Given the description of an element on the screen output the (x, y) to click on. 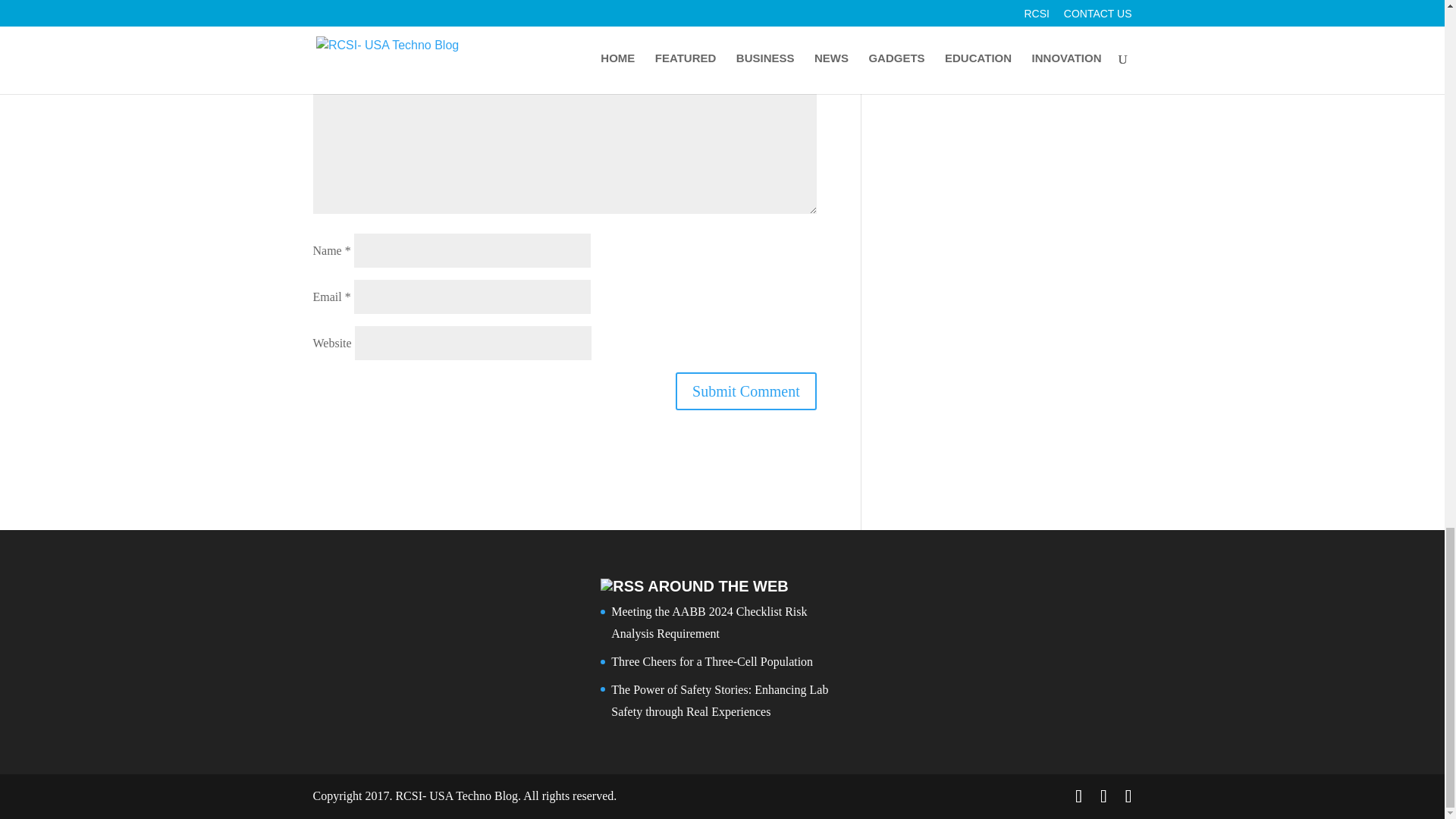
Submit Comment (745, 391)
Submit Comment (745, 391)
Three Cheers for a Three-Cell Population (711, 661)
Meeting the AABB 2024 Checklist Risk Analysis Requirement (708, 622)
AROUND THE WEB (718, 586)
